Given the description of an element on the screen output the (x, y) to click on. 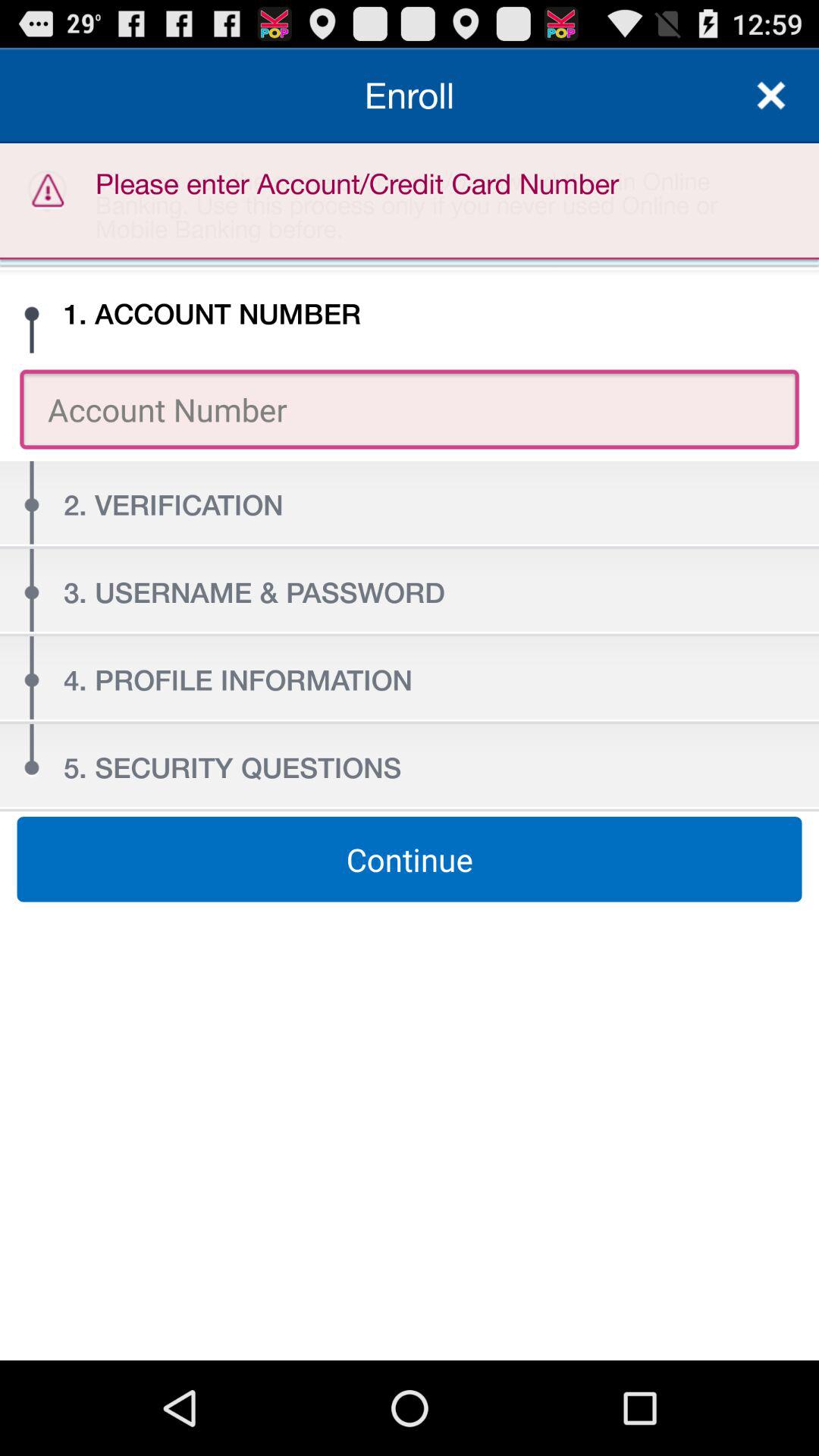
launch the item at the center (409, 859)
